Given the description of an element on the screen output the (x, y) to click on. 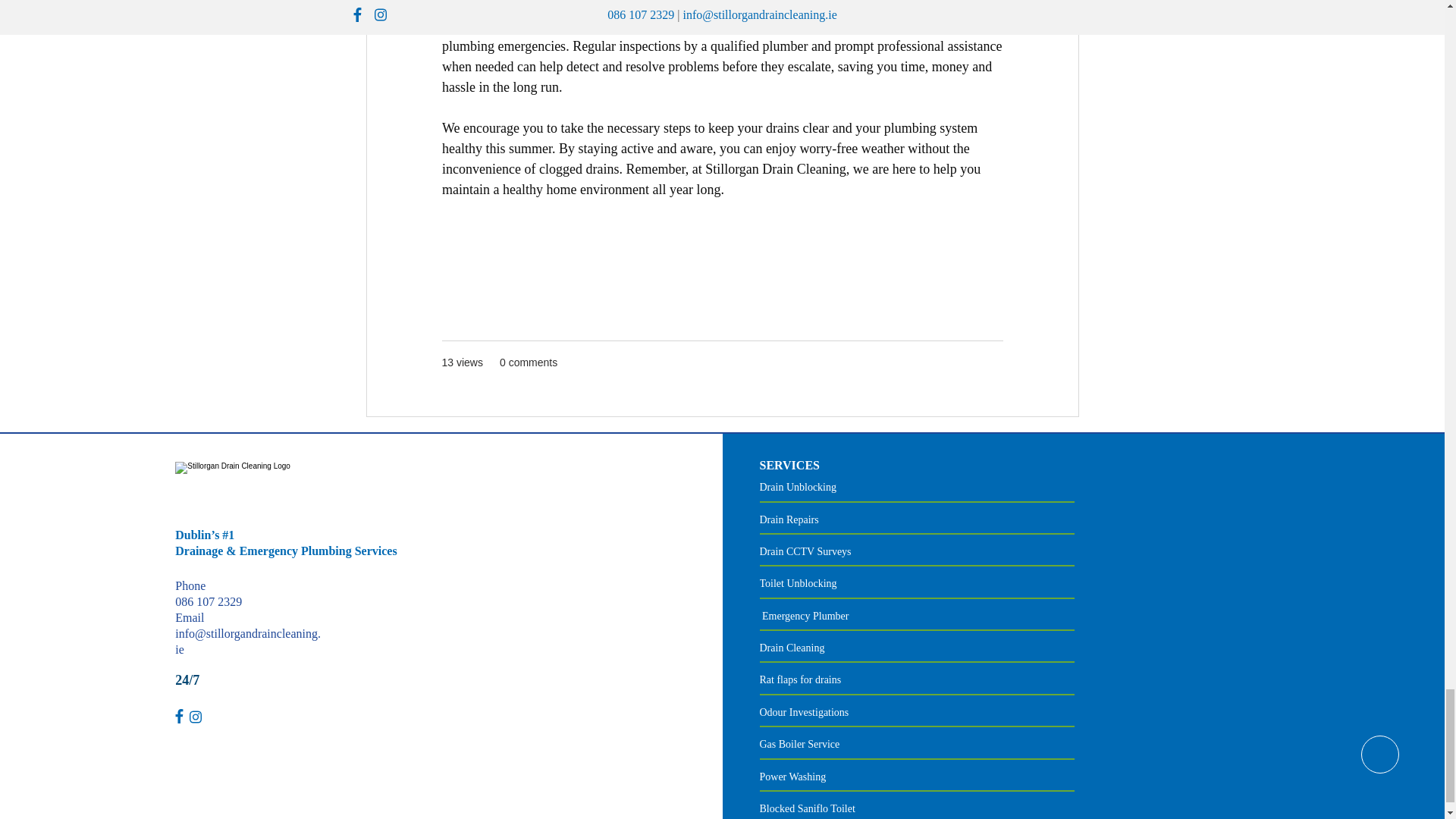
Drain Unblocking (797, 487)
086 107 2329 (207, 601)
Drain Repairs (789, 519)
Drain CCTV Surveys (805, 551)
